Given the description of an element on the screen output the (x, y) to click on. 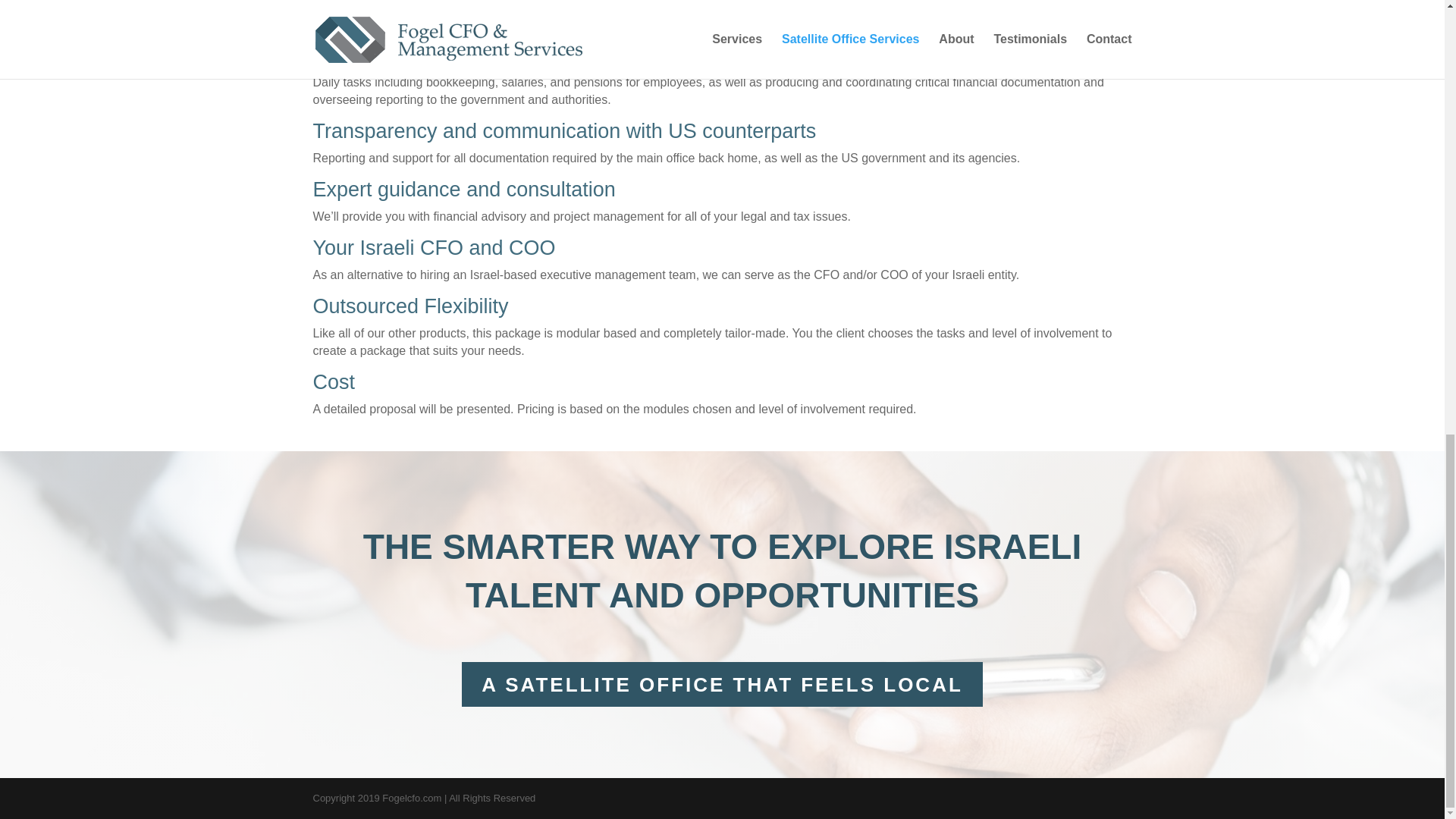
A SATELLITE OFFICE THAT FEELS LOCAL (721, 684)
